Given the description of an element on the screen output the (x, y) to click on. 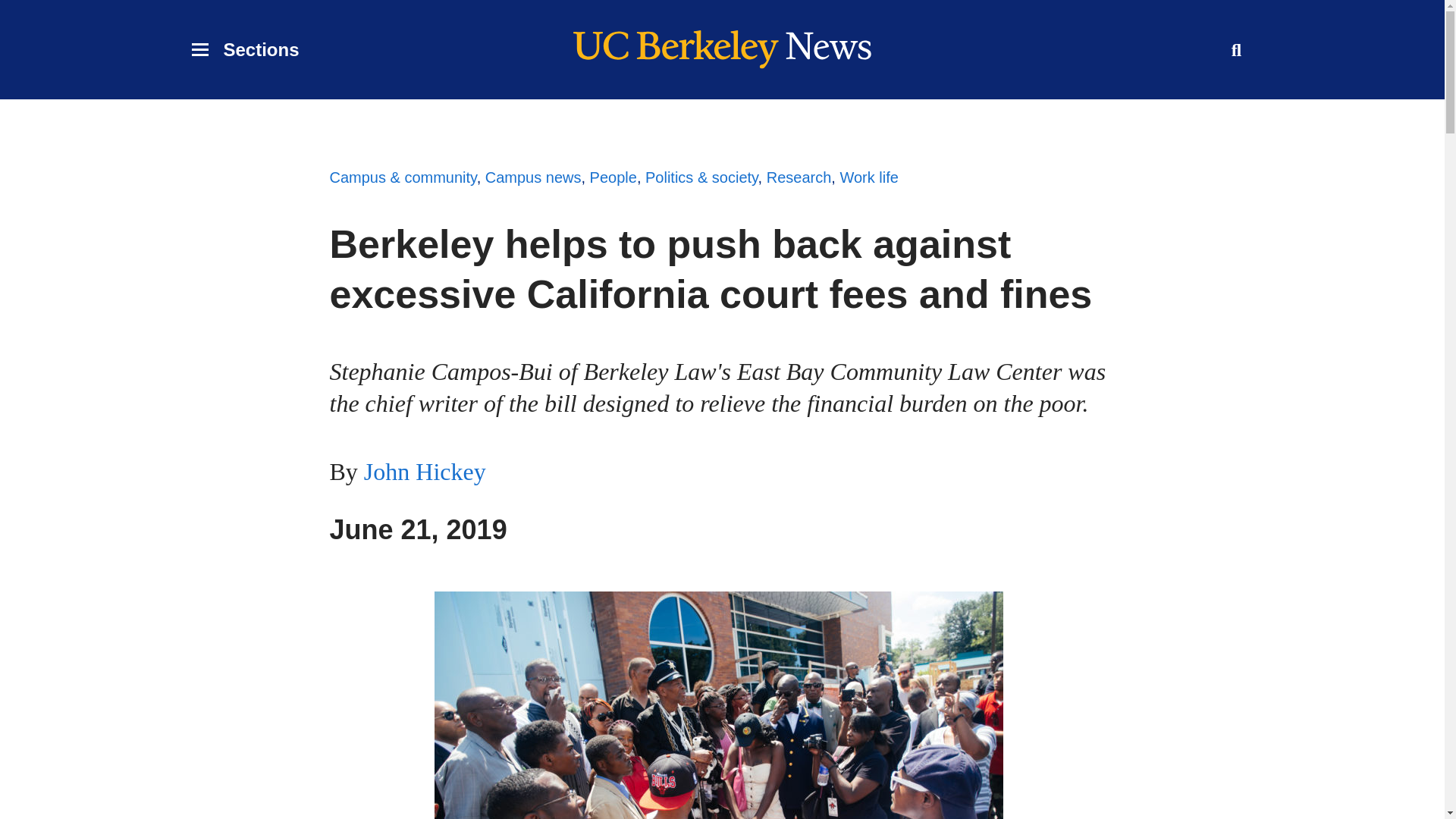
John Hickey (425, 471)
Work life (869, 176)
Research (799, 176)
Campus news (532, 176)
People (244, 49)
Expand Search Form (613, 176)
